Given the description of an element on the screen output the (x, y) to click on. 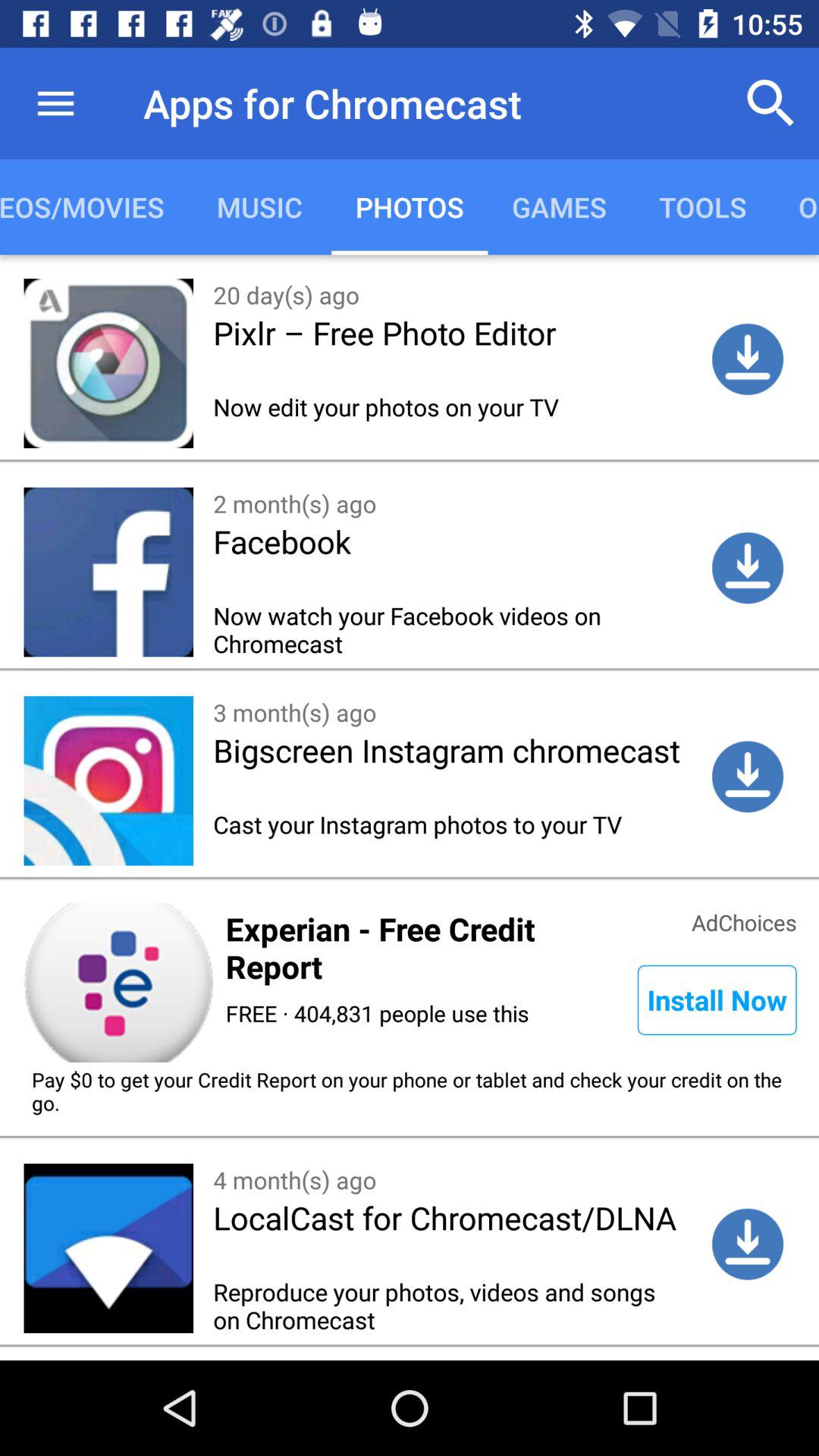
choose the icon next to the experian free credit icon (716, 1000)
